Given the description of an element on the screen output the (x, y) to click on. 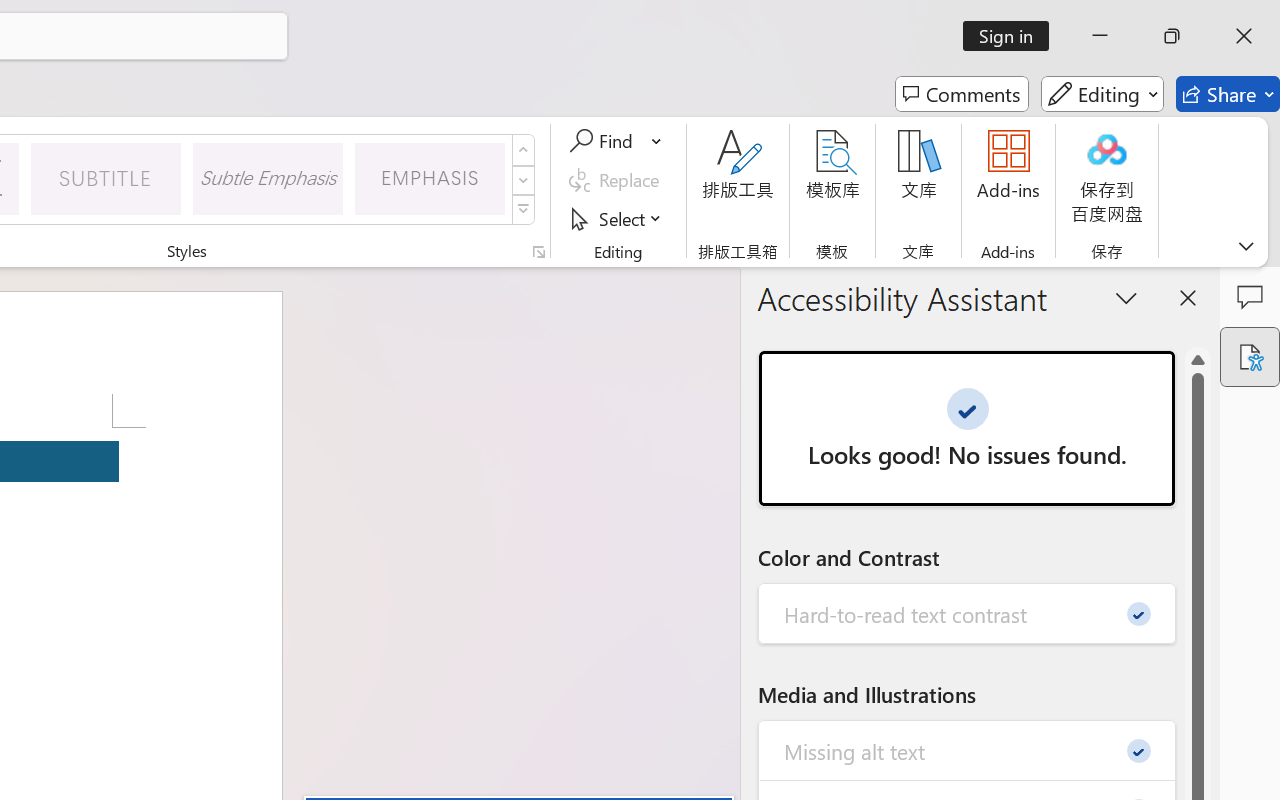
Editing (1101, 94)
Accessibility Assistant (1249, 357)
Subtitle (105, 178)
